Given the description of an element on the screen output the (x, y) to click on. 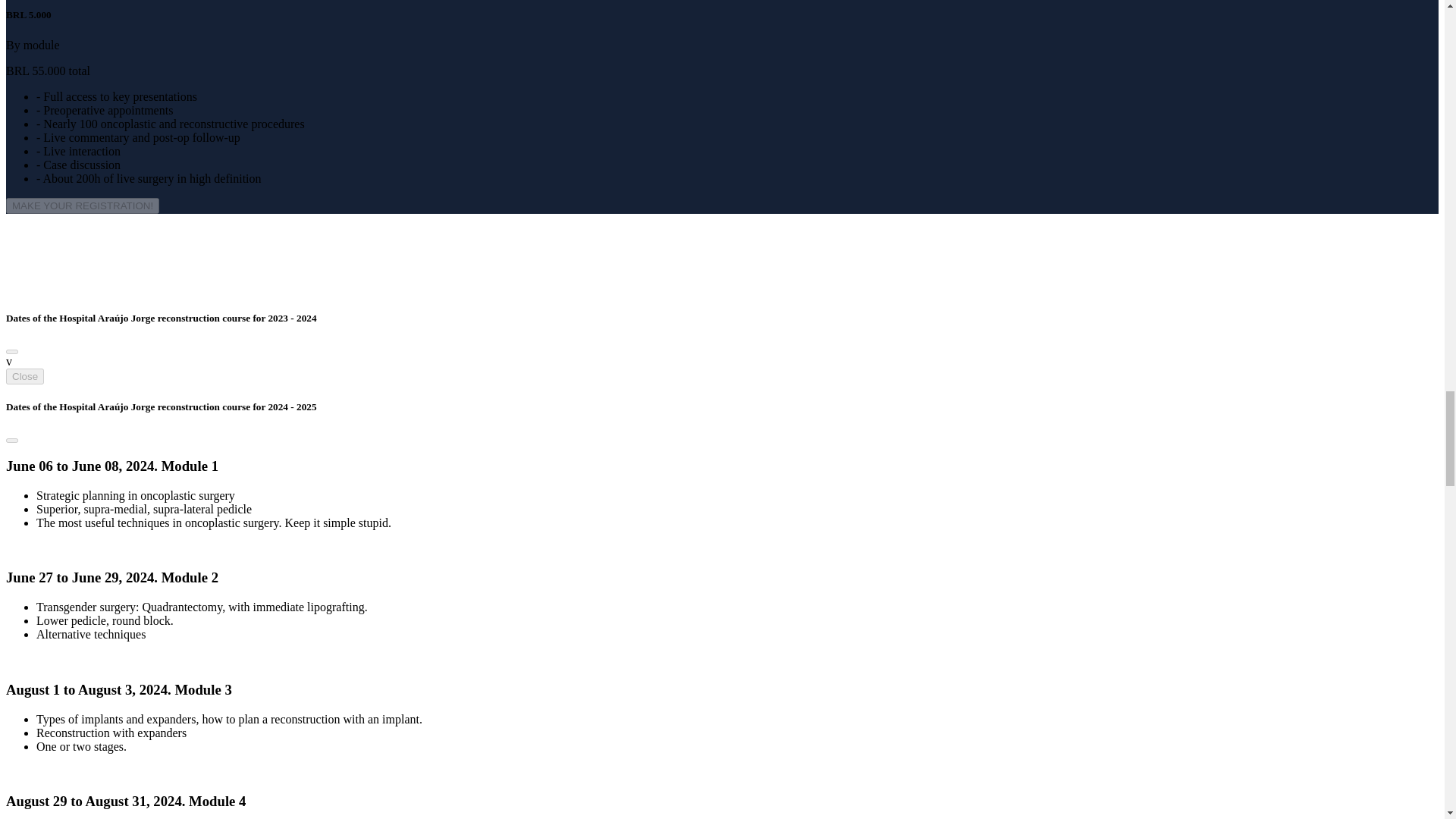
MAKE YOUR REGISTRATION! (81, 205)
Close (24, 376)
